Given the description of an element on the screen output the (x, y) to click on. 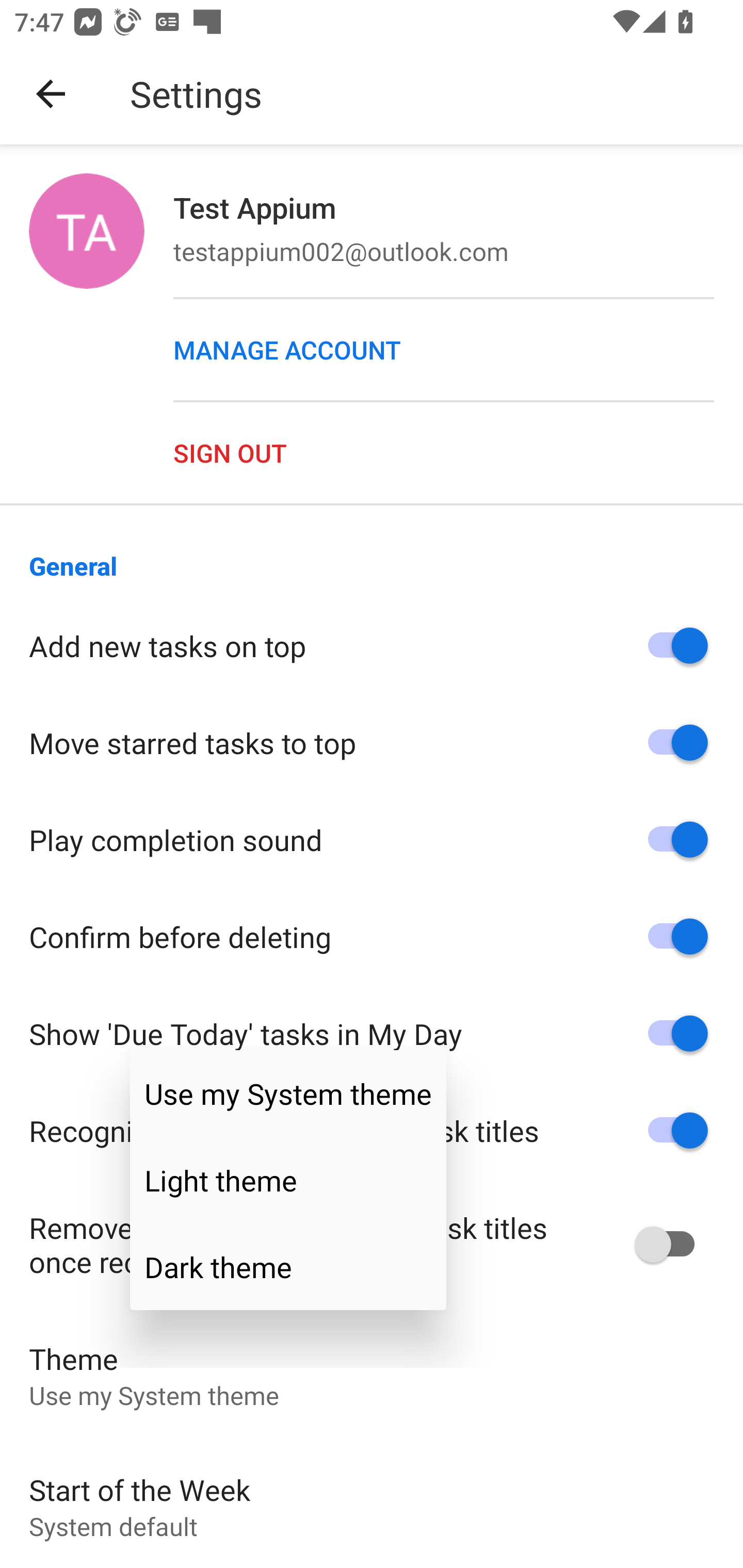
Use my System theme (288, 1093)
Light theme (288, 1179)
Dark theme (288, 1266)
